Given the description of an element on the screen output the (x, y) to click on. 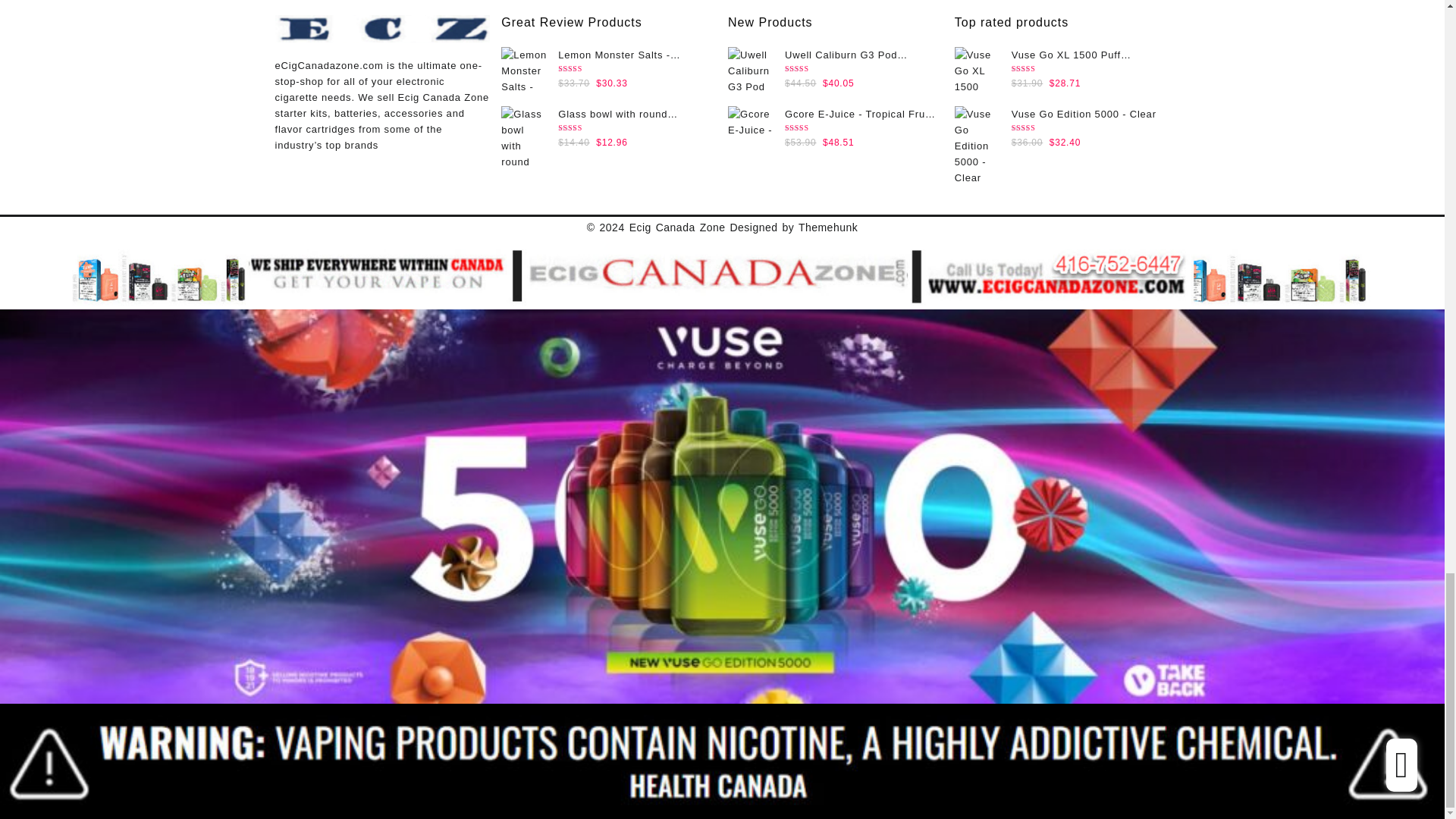
Vuse Go XL 1500 Puff Disposable Vape Spearmint Ice 20mg (977, 69)
Uwell Caliburn G3 Pod System Kit 25W 900mAh (750, 69)
Vuse Go Edition 5000 - Clear (977, 148)
Lemon Monster Salts - Blueberry Lemon (523, 69)
Gcore E-Juice - Tropical Fruit C. (750, 121)
